Given the description of an element on the screen output the (x, y) to click on. 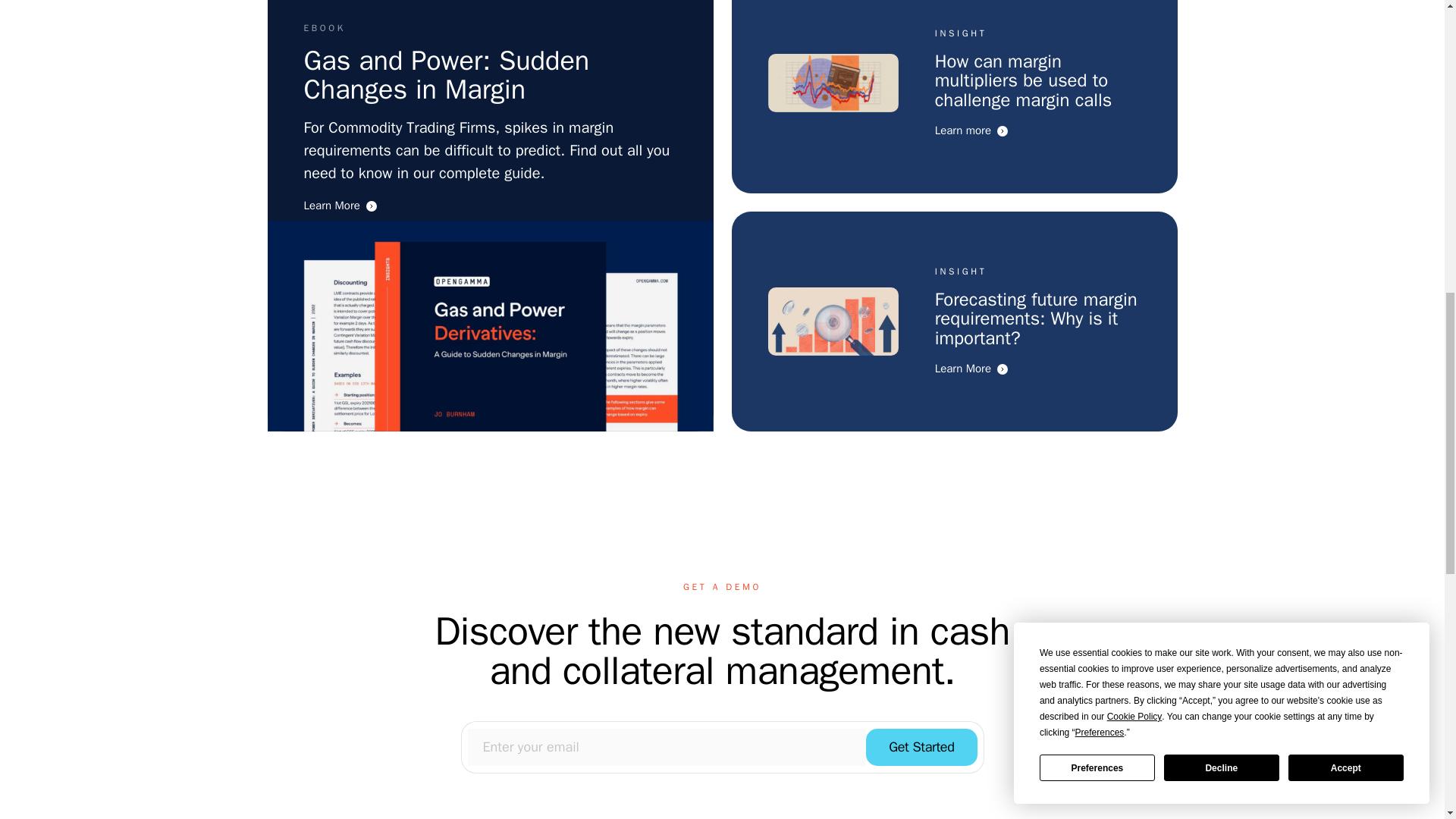
Get Started (921, 746)
Get Started (920, 746)
